Given the description of an element on the screen output the (x, y) to click on. 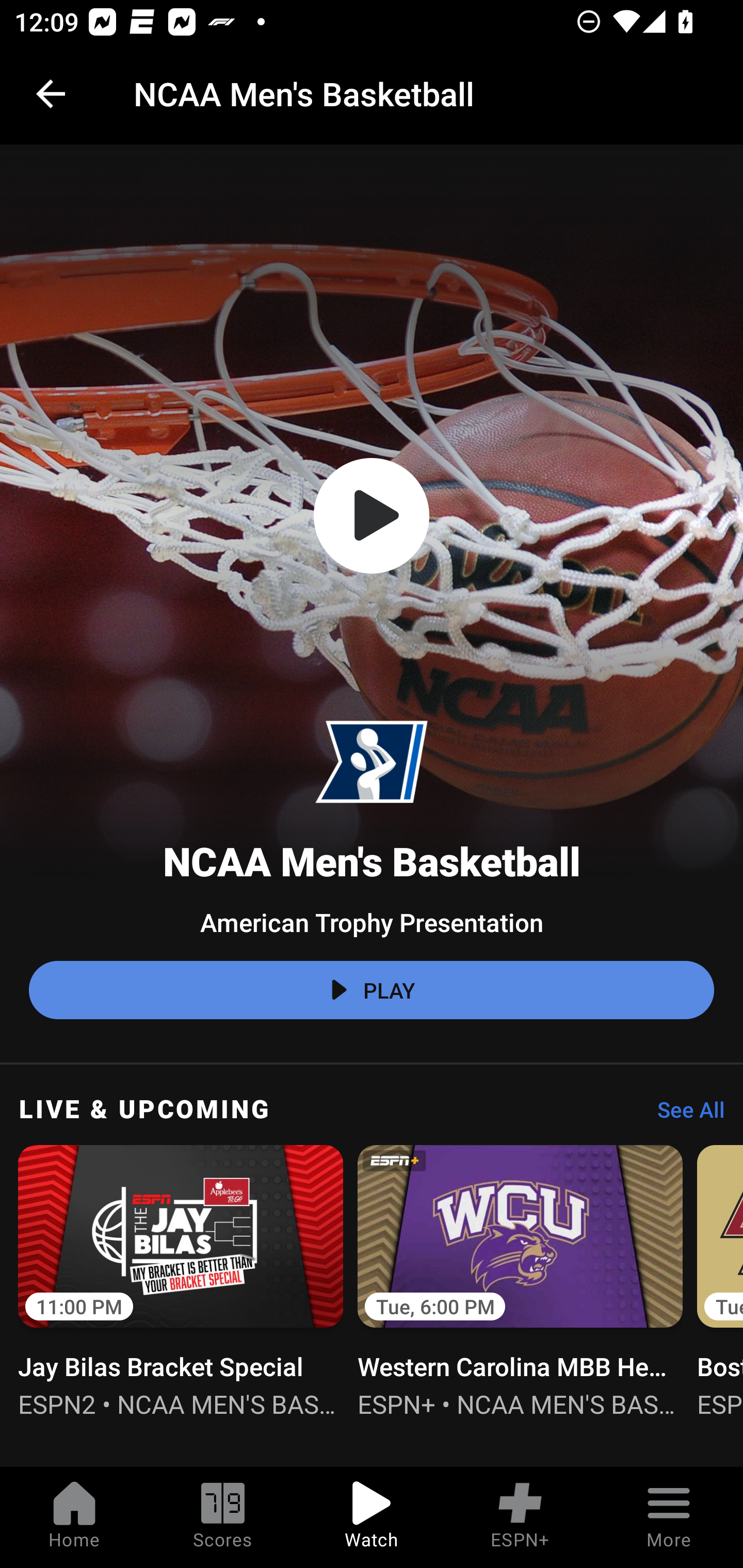
 (371, 515)
PLAY (371, 990)
See All (683, 1114)
Home (74, 1517)
Scores (222, 1517)
ESPN+ (519, 1517)
More (668, 1517)
